Given the description of an element on the screen output the (x, y) to click on. 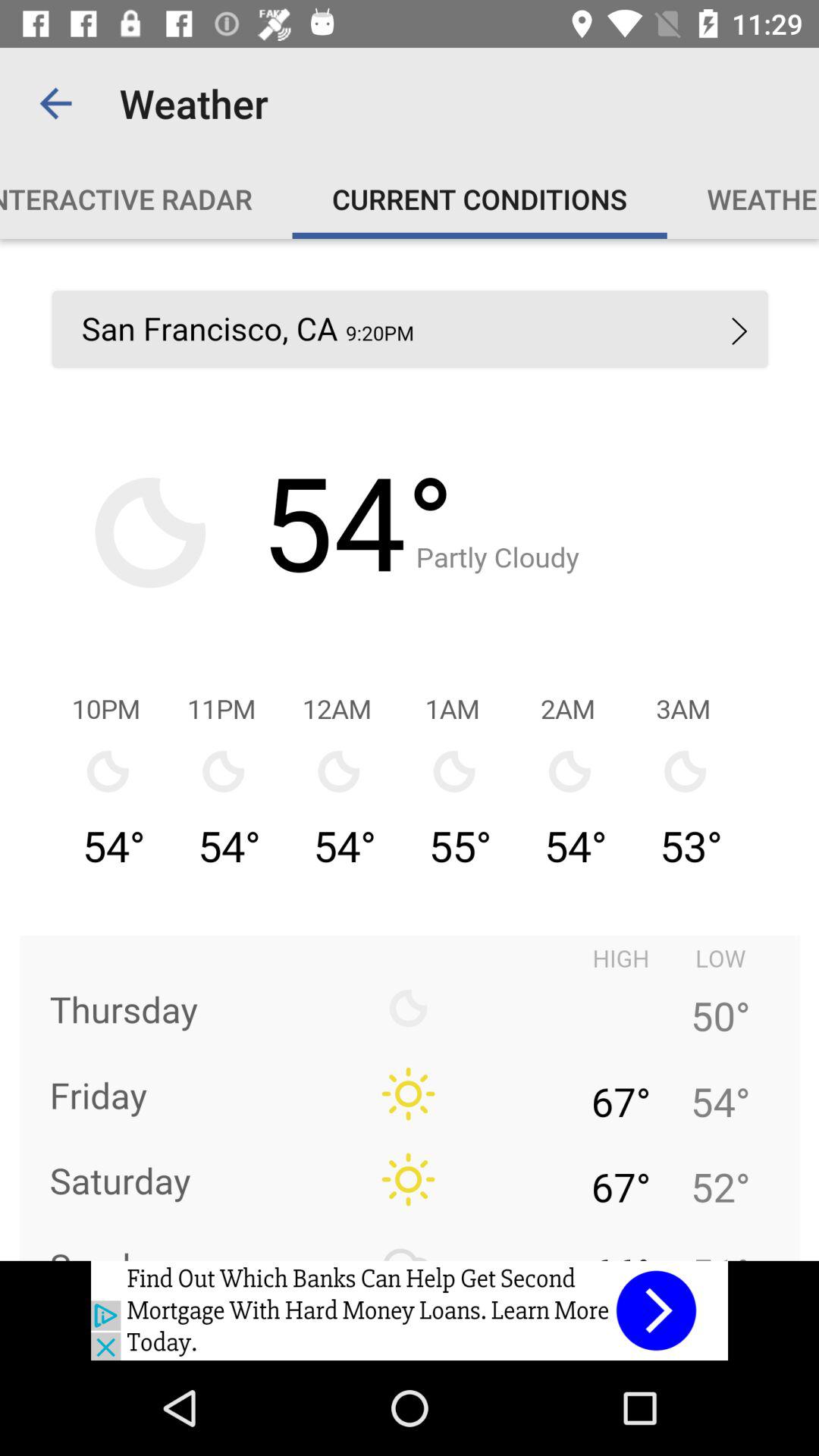
switch to advertisement page (409, 1310)
